Given the description of an element on the screen output the (x, y) to click on. 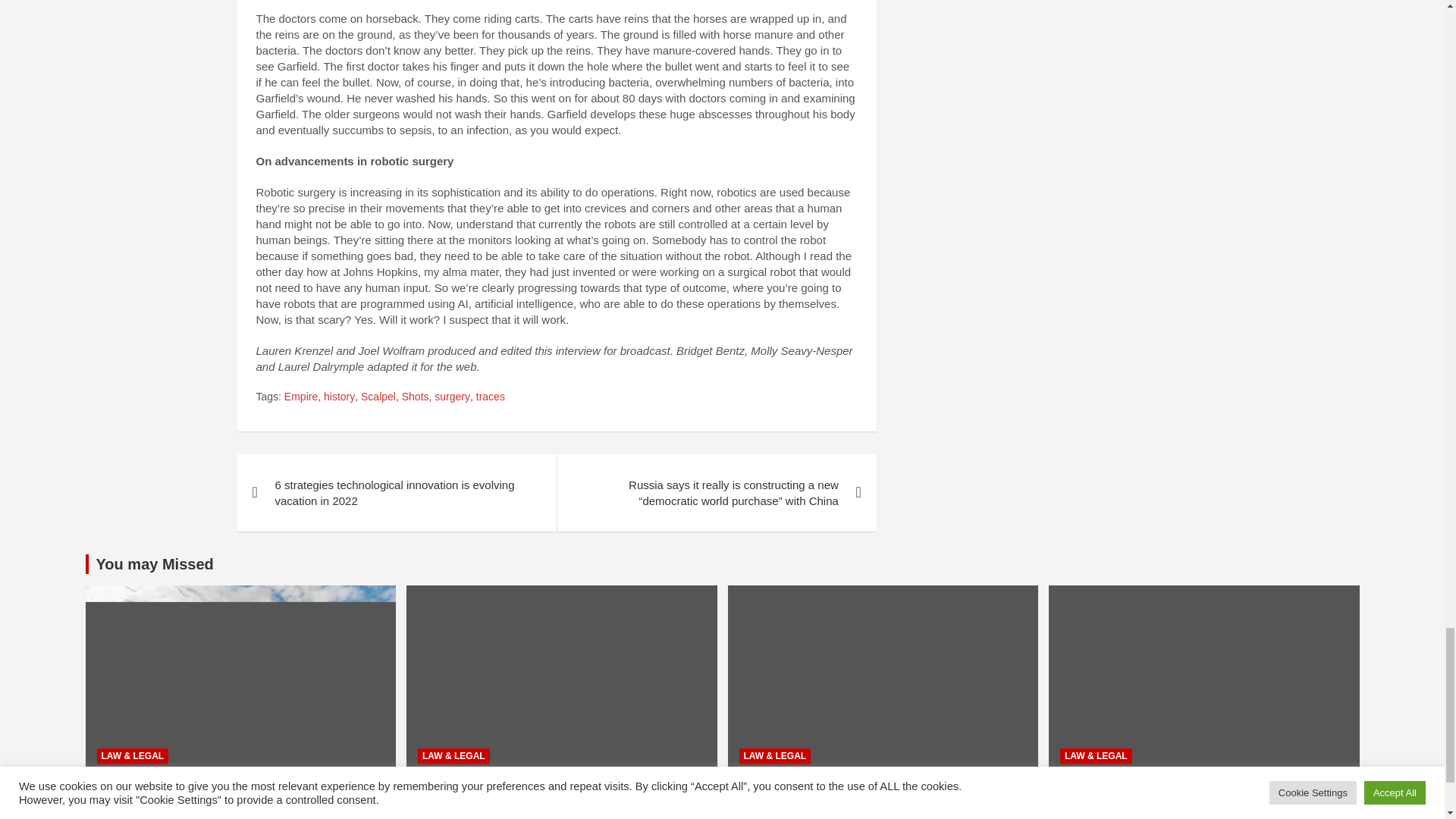
Scalpel (378, 396)
history (339, 396)
Empire (300, 396)
The Cases Against Trump: A Guide (770, 811)
You may Missed (154, 564)
surgery (451, 396)
traces (490, 396)
Shots (415, 396)
